Given the description of an element on the screen output the (x, y) to click on. 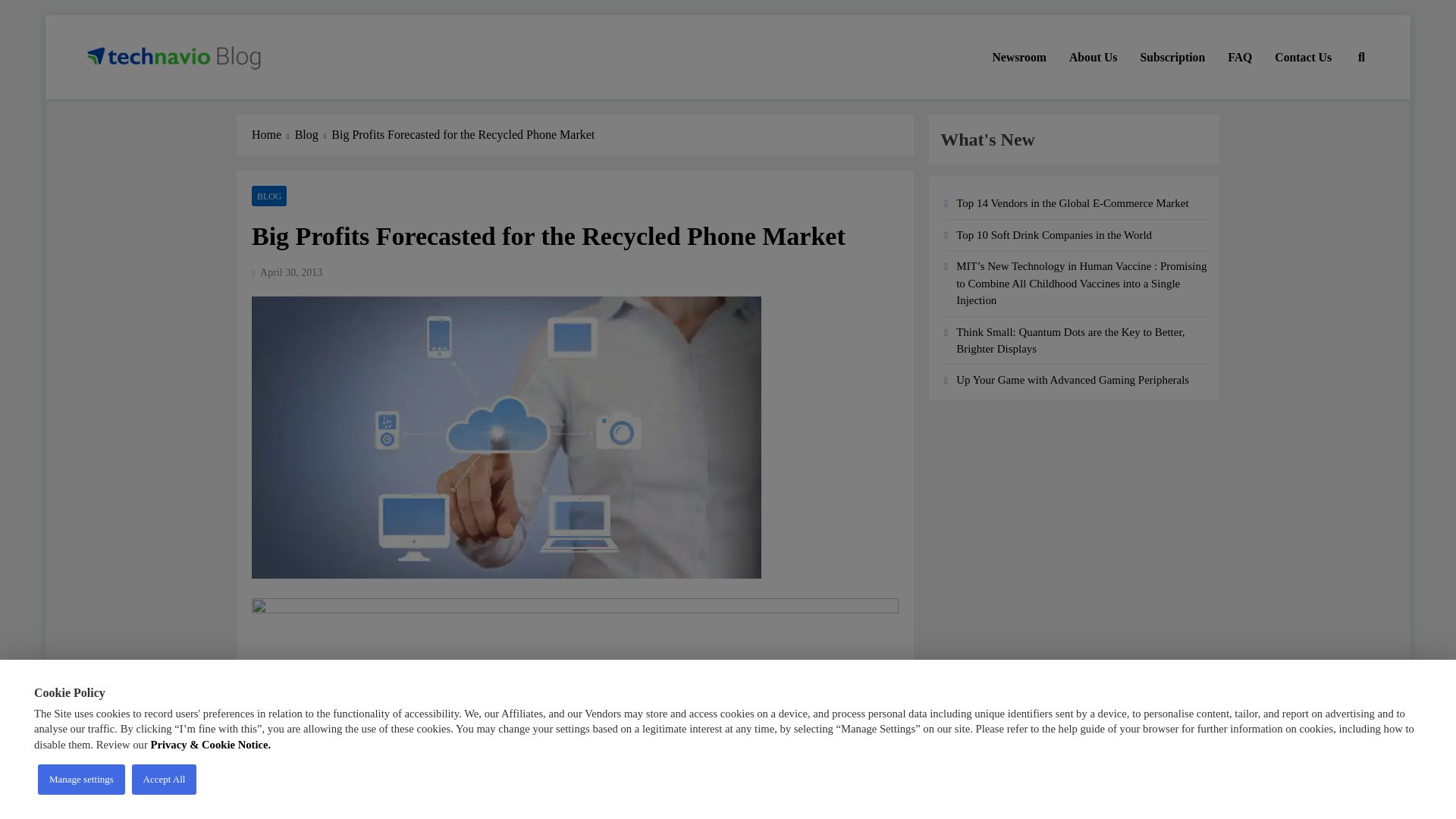
Newsroom (1019, 56)
Up Your Game with Advanced Gaming Peripherals (1072, 379)
Home (273, 135)
Subscription (1171, 56)
Technavio (138, 100)
Contact Us (1302, 56)
Blog (313, 135)
Top 14 Vendors in the Global E-Commerce Market (1072, 203)
Top 10 Soft Drink Companies in the World (1053, 234)
About Us (1093, 56)
BLOG (268, 195)
FAQ (1239, 56)
April 30, 2013 (290, 272)
